Given the description of an element on the screen output the (x, y) to click on. 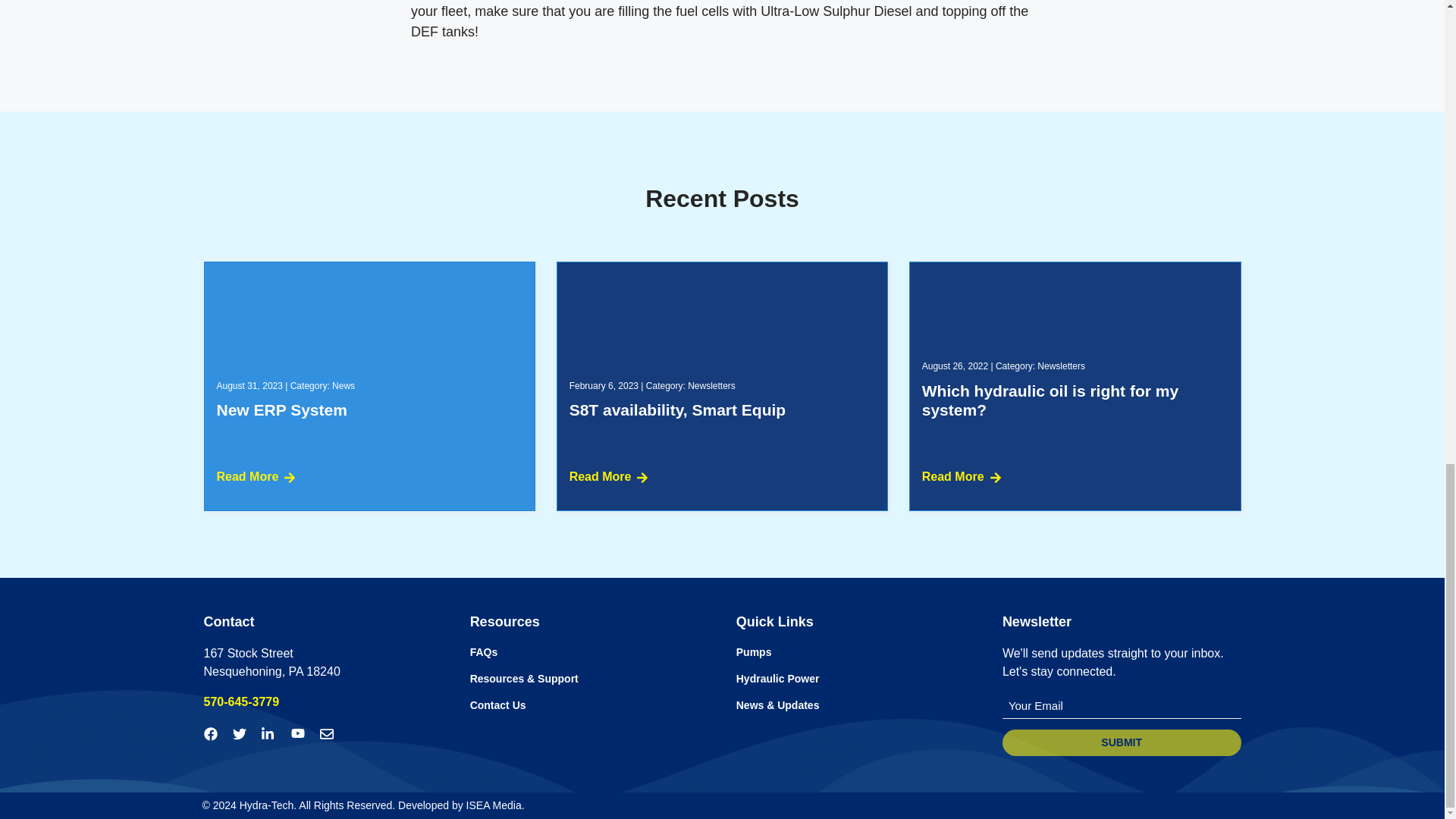
Submit (1122, 742)
